Given the description of an element on the screen output the (x, y) to click on. 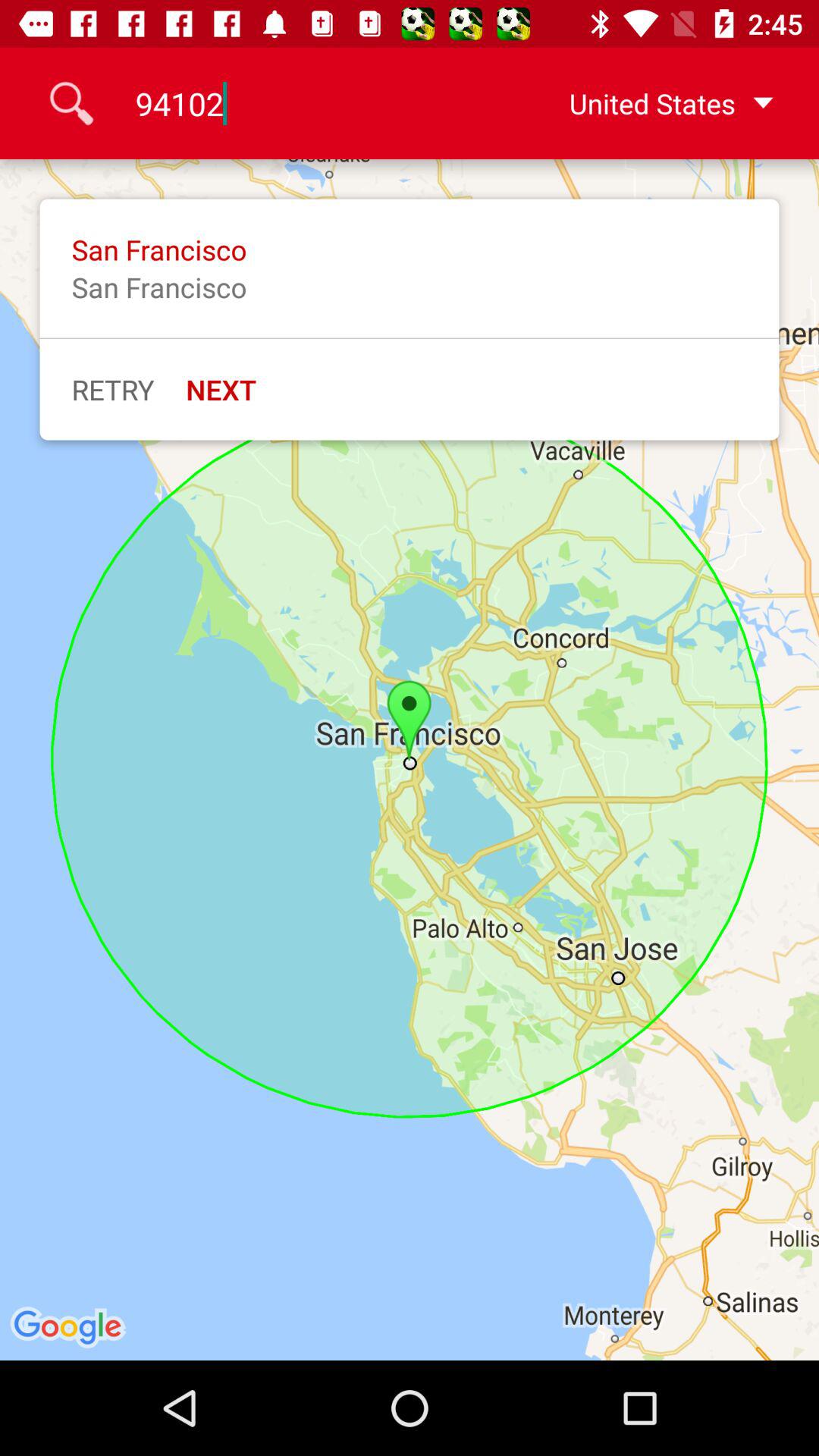
open item at the center (409, 759)
